Given the description of an element on the screen output the (x, y) to click on. 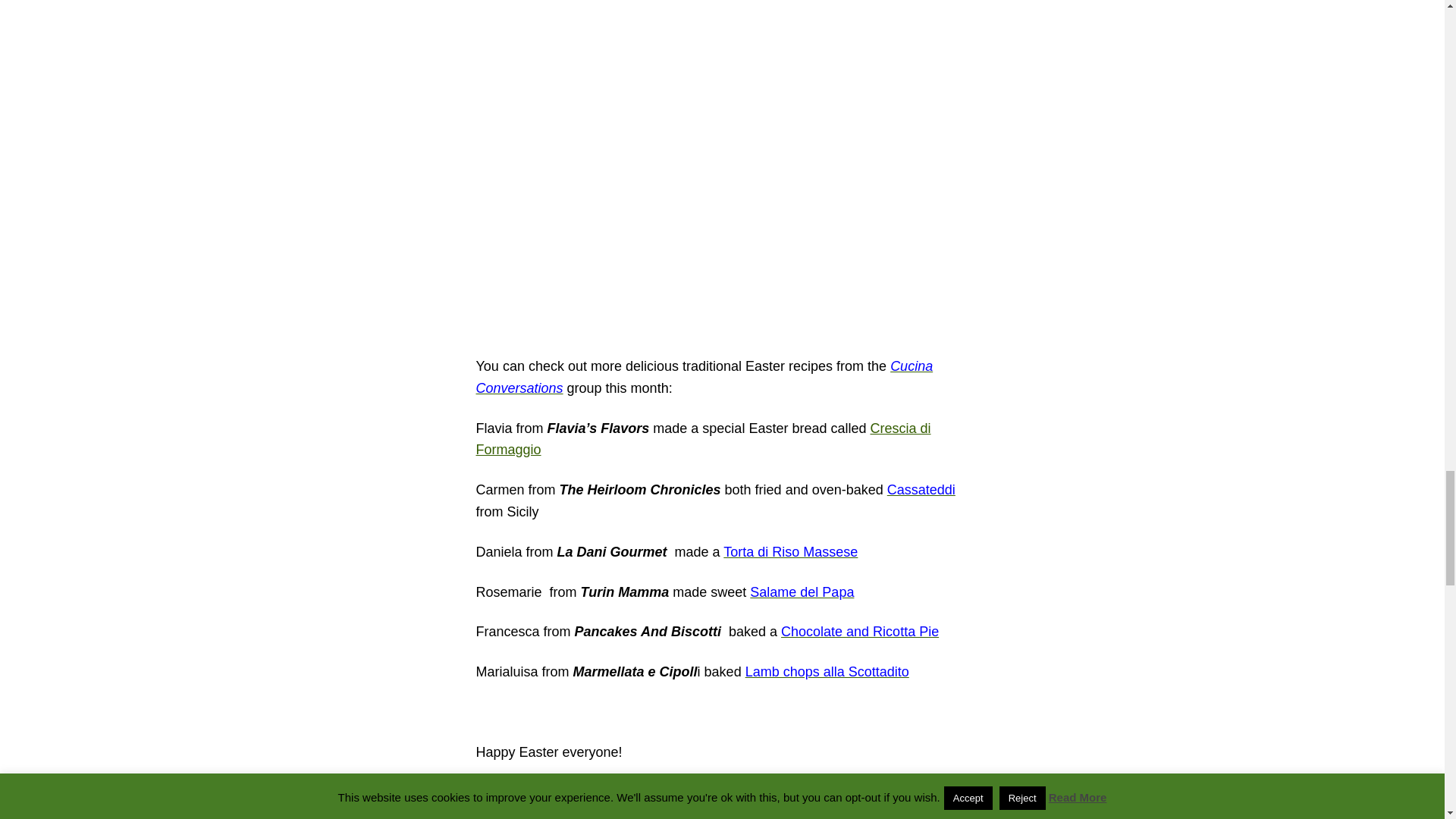
Chocolate and Ricotta Pie (859, 631)
Cassateddi (920, 489)
Cucina Conversations (704, 376)
Lamb chops alla Scottadito (826, 671)
Crescia di Formaggio (703, 438)
Torta di Riso Massese (790, 551)
Salame del Papa (801, 591)
